Given the description of an element on the screen output the (x, y) to click on. 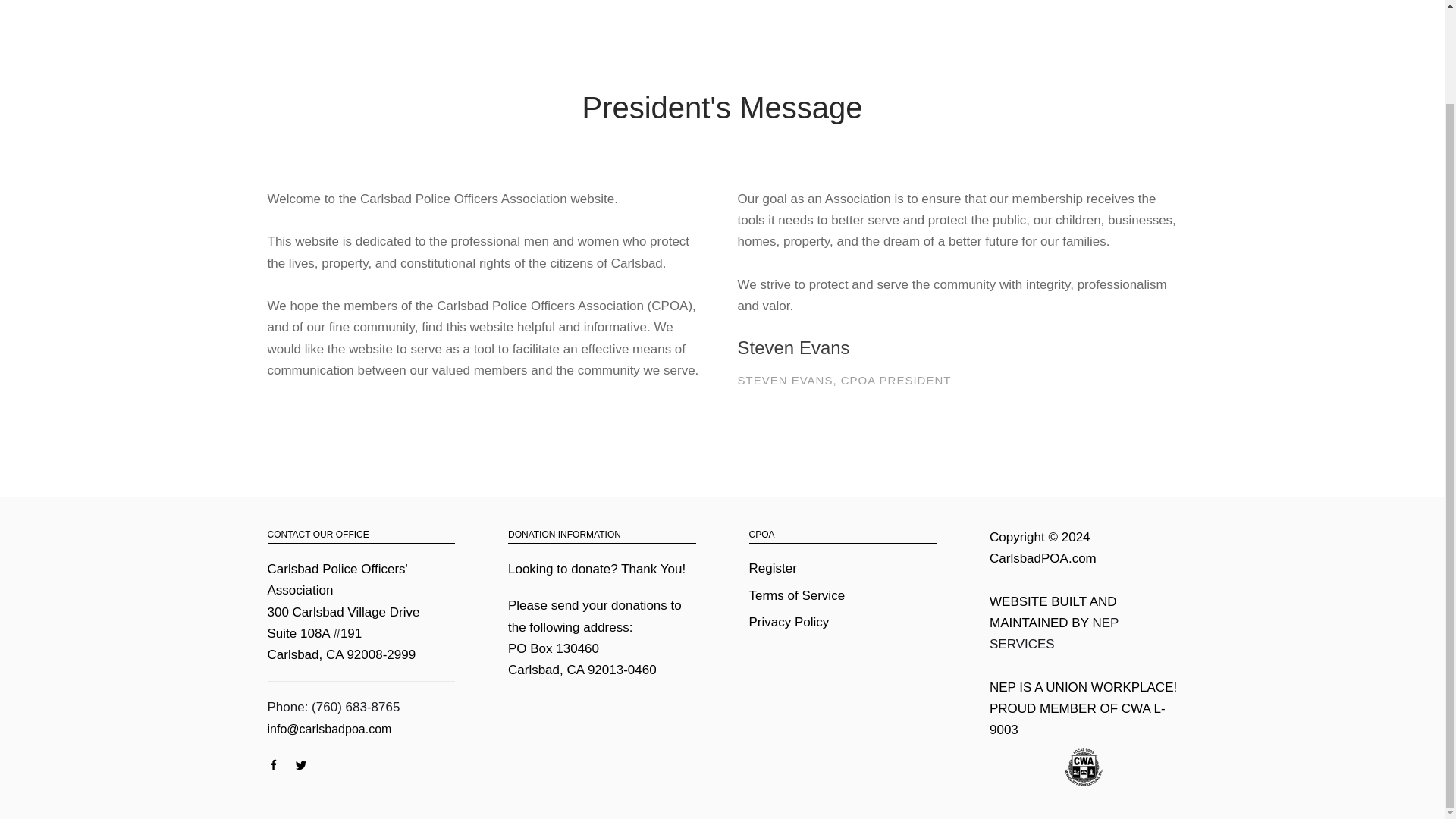
Terms of Service (797, 595)
NEP SERVICES (1054, 633)
Privacy Policy (789, 622)
Register (772, 568)
